Given the description of an element on the screen output the (x, y) to click on. 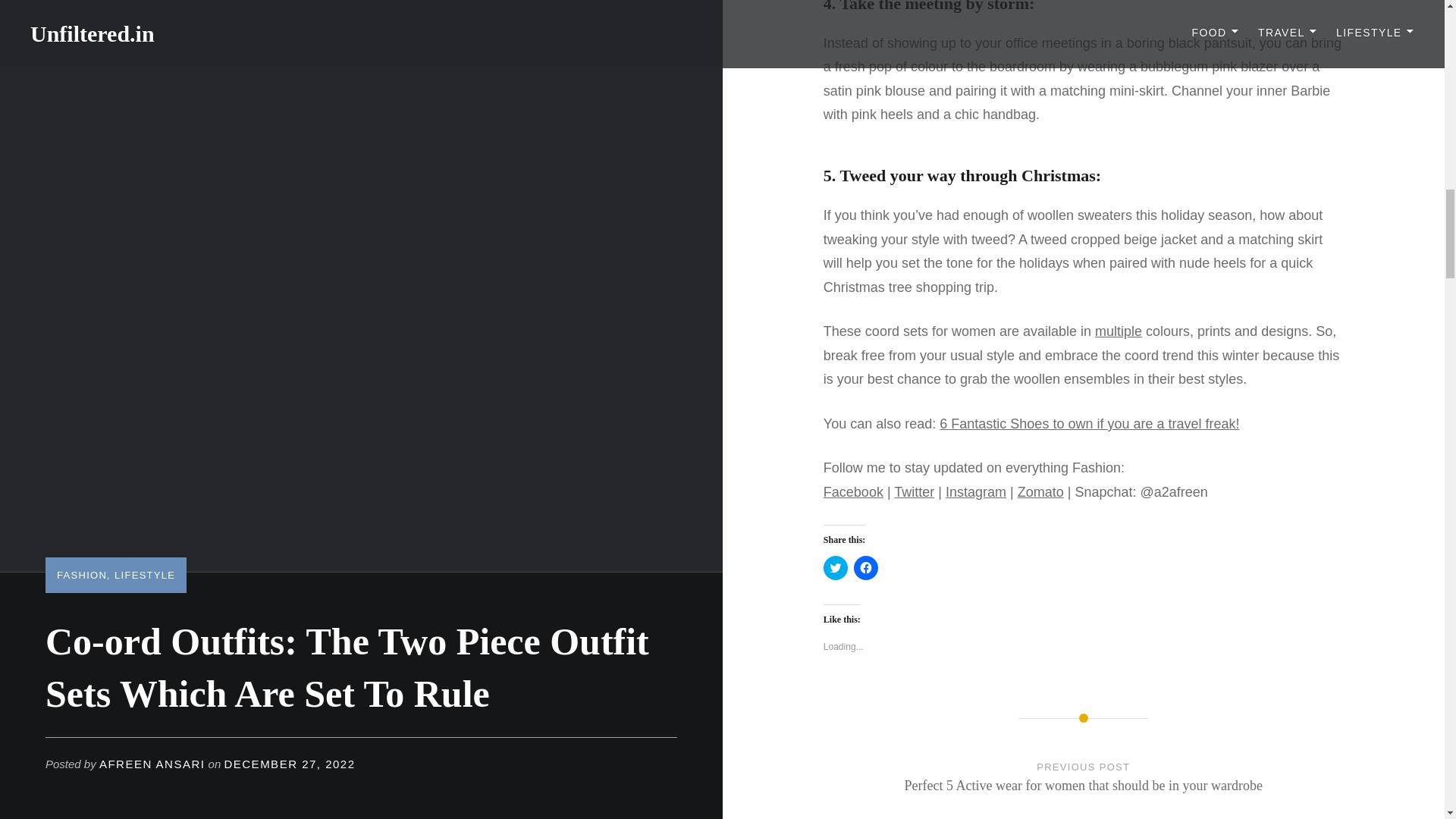
Facebook (853, 491)
Click to share on Facebook (865, 567)
Instagram (975, 491)
Click to share on Twitter (835, 567)
Twitter (913, 491)
multiple (1117, 331)
Zomato (1040, 491)
6 Fantastic Shoes to own if you are a travel freak! (1089, 423)
